Given the description of an element on the screen output the (x, y) to click on. 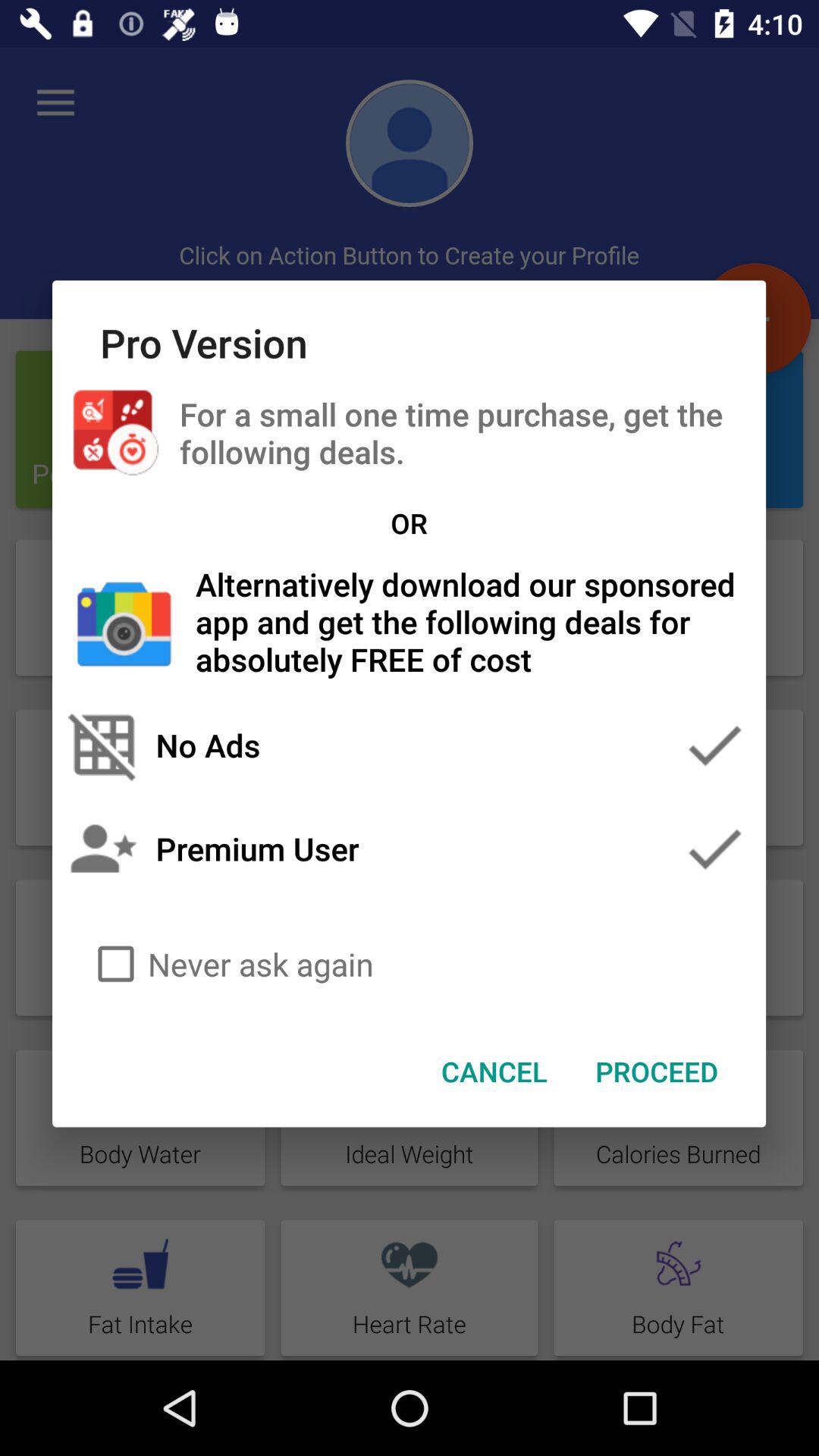
click the icon above cancel item (409, 963)
